Given the description of an element on the screen output the (x, y) to click on. 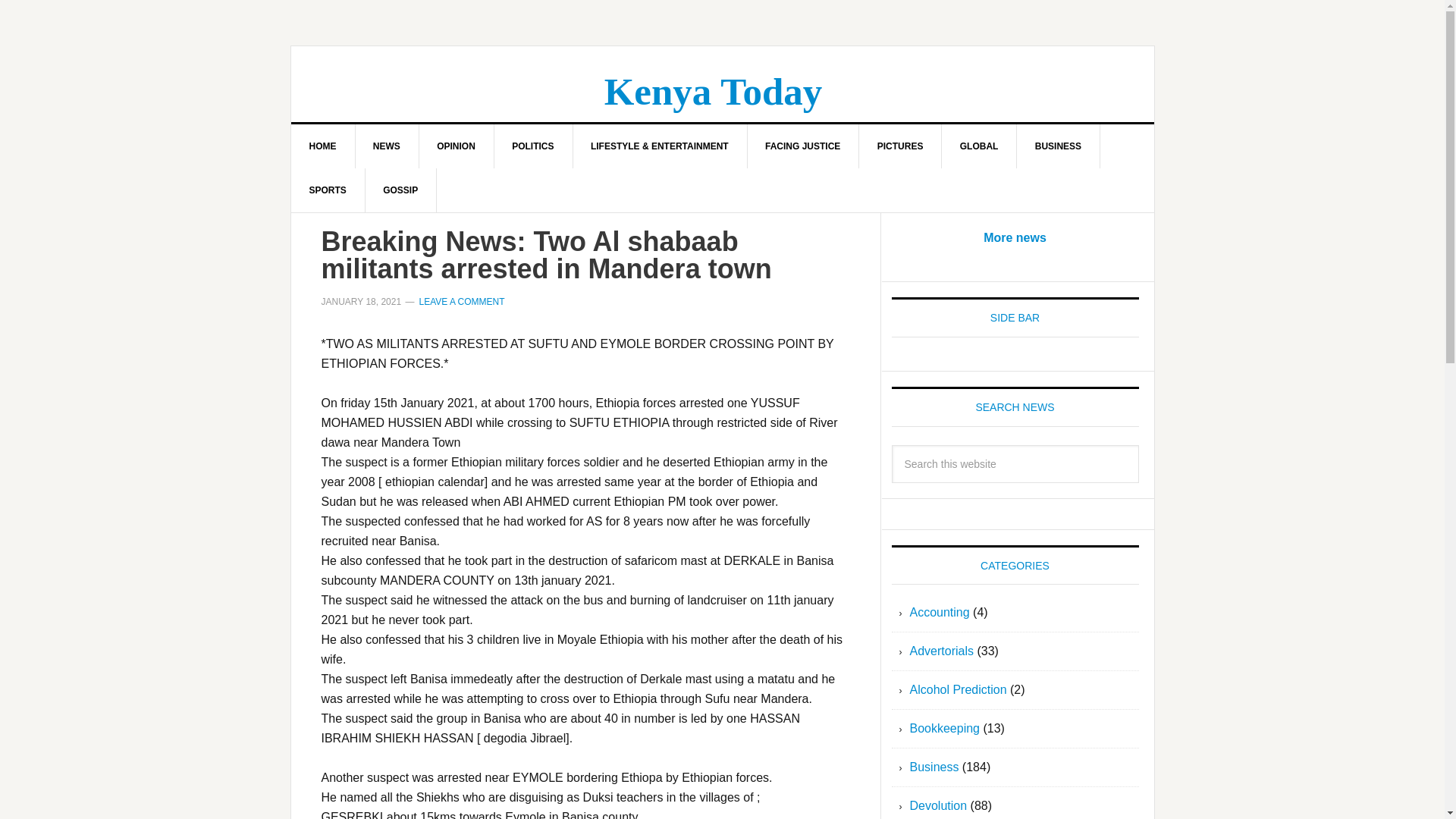
Advertorials (942, 650)
GOSSIP (400, 190)
Business (934, 766)
GLOBAL (979, 146)
Accounting (939, 612)
NEWS (387, 146)
More news (1015, 237)
BUSINESS (1058, 146)
FACING JUSTICE (802, 146)
PICTURES (900, 146)
